Given the description of an element on the screen output the (x, y) to click on. 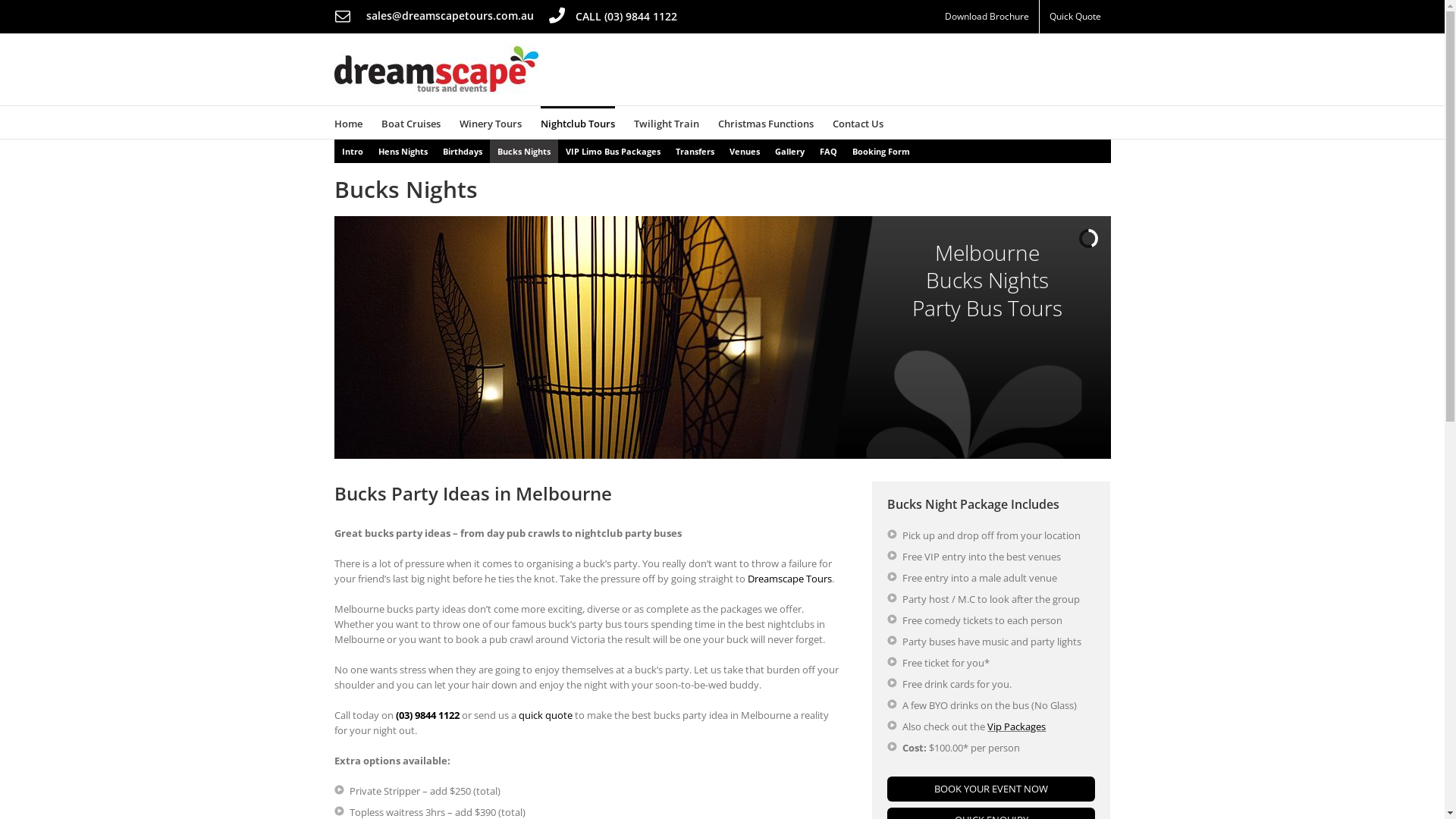
BOOK YOUR EVENT NOW Element type: text (991, 788)
Intro Element type: text (351, 151)
Dreamscape Tours Element type: text (789, 578)
Contact Us Element type: text (857, 122)
Download Brochure Element type: text (986, 16)
Christmas Functions Element type: text (764, 122)
Birthdays Element type: text (462, 151)
Home Element type: text (347, 122)
Bucks Nights Element type: text (523, 151)
FAQ Element type: text (827, 151)
VIP Limo Bus Packages Element type: text (613, 151)
sales@dreamscapetours.com.au Element type: text (449, 14)
Vip Packages Element type: text (1016, 726)
quick quote Element type: text (545, 714)
Booking Form Element type: text (880, 151)
Nightclub Tours Element type: text (576, 122)
Gallery Element type: text (789, 151)
(03) 9844 1122 Element type: text (427, 714)
Boat Cruises Element type: text (409, 122)
Email Element type: text (341, 16)
Hens Nights Element type: text (402, 151)
Winery Tours Element type: text (490, 122)
CALL (03) 9844 1122 Element type: text (613, 14)
Transfers Element type: text (694, 151)
Quick Quote Element type: text (1074, 16)
Venues Element type: text (744, 151)
Twilight Train Element type: text (666, 122)
